Given the description of an element on the screen output the (x, y) to click on. 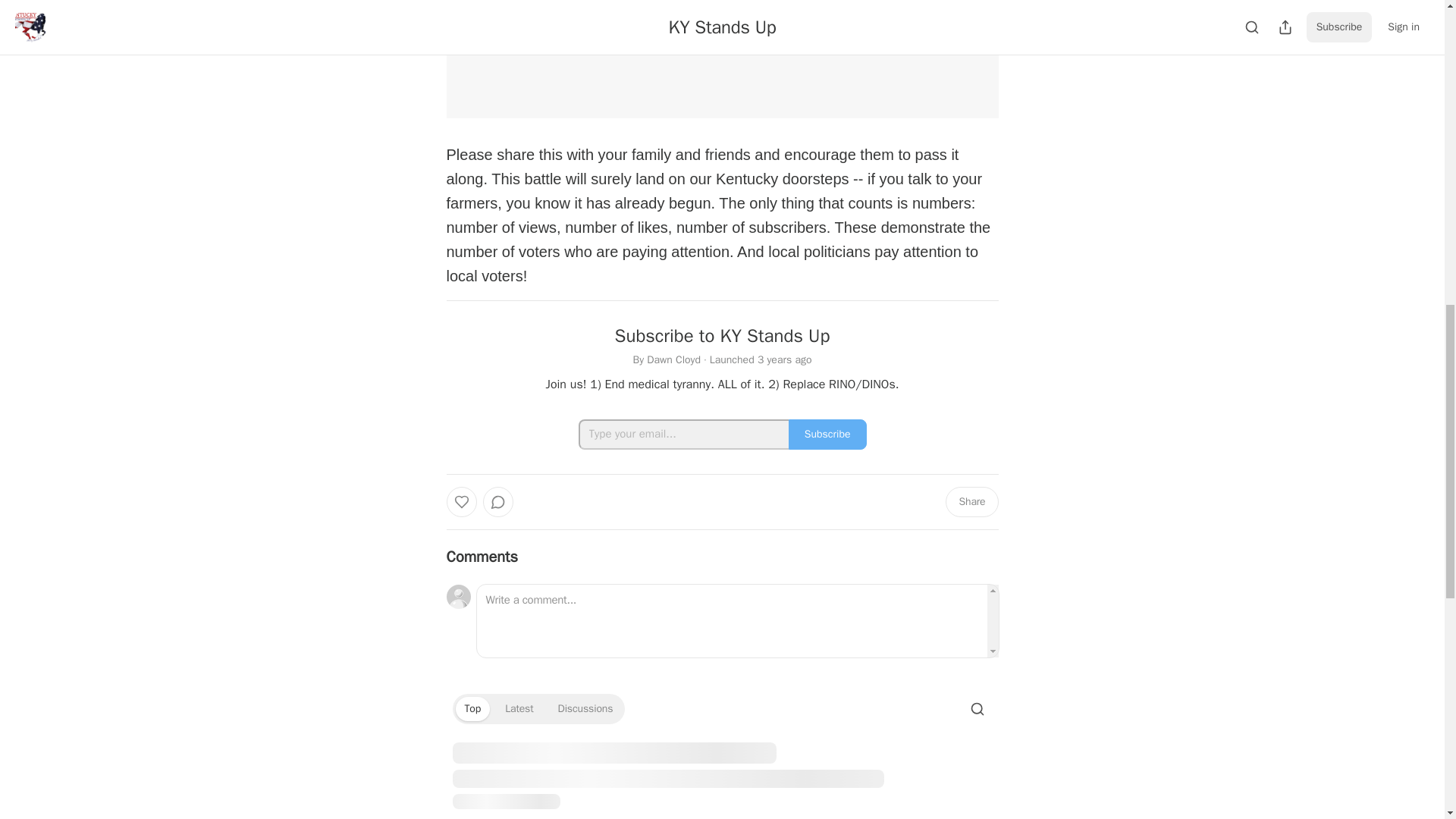
Subscribe (827, 433)
Top (471, 708)
Share (970, 501)
Latest (518, 708)
Discussions (585, 708)
